Given the description of an element on the screen output the (x, y) to click on. 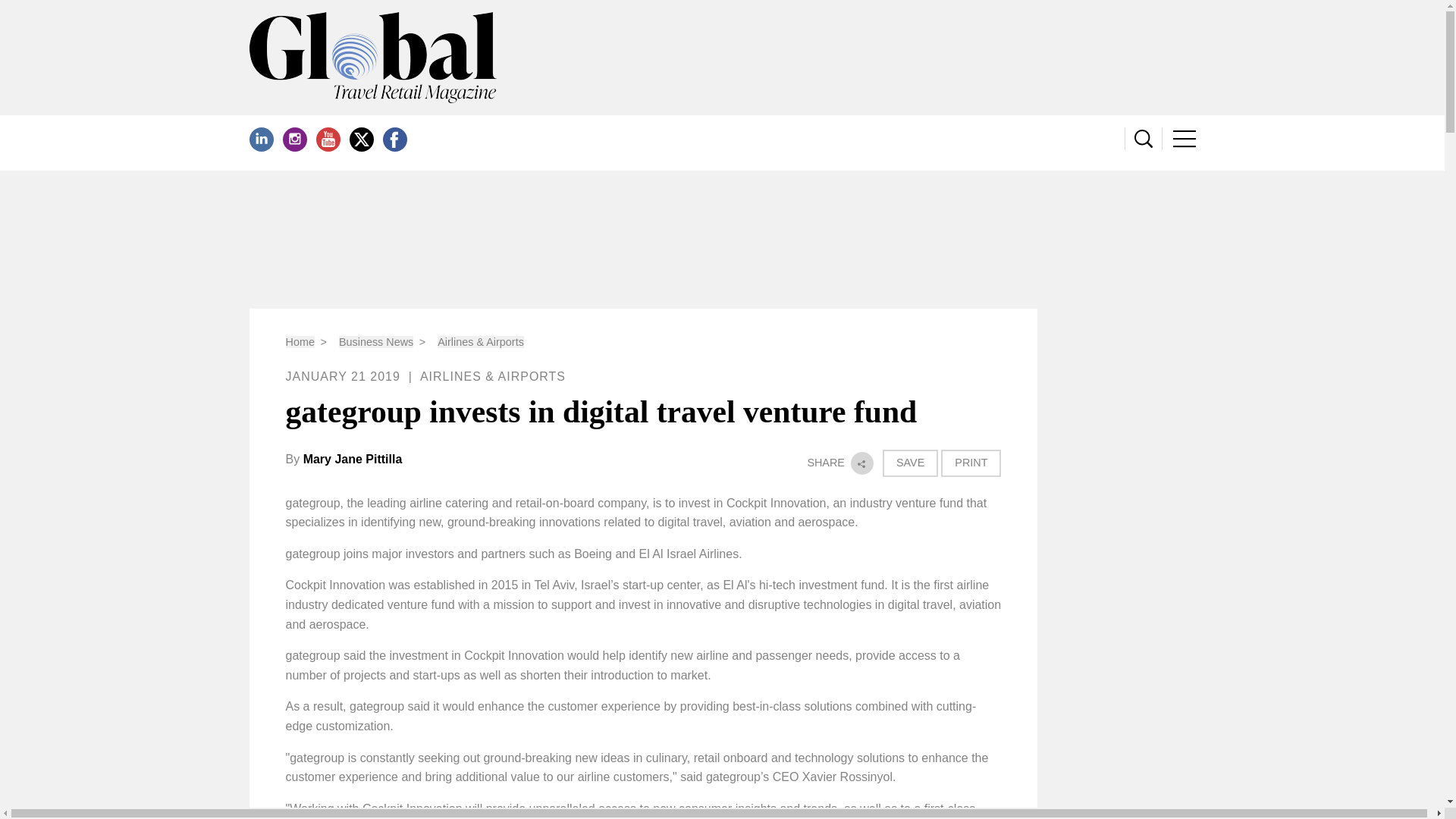
LinkedIn (260, 139)
facebook (393, 139)
instagram (293, 139)
youtube (327, 139)
3rd party ad content (722, 239)
Home (299, 341)
Business News (376, 341)
twitter (360, 139)
